Given the description of an element on the screen output the (x, y) to click on. 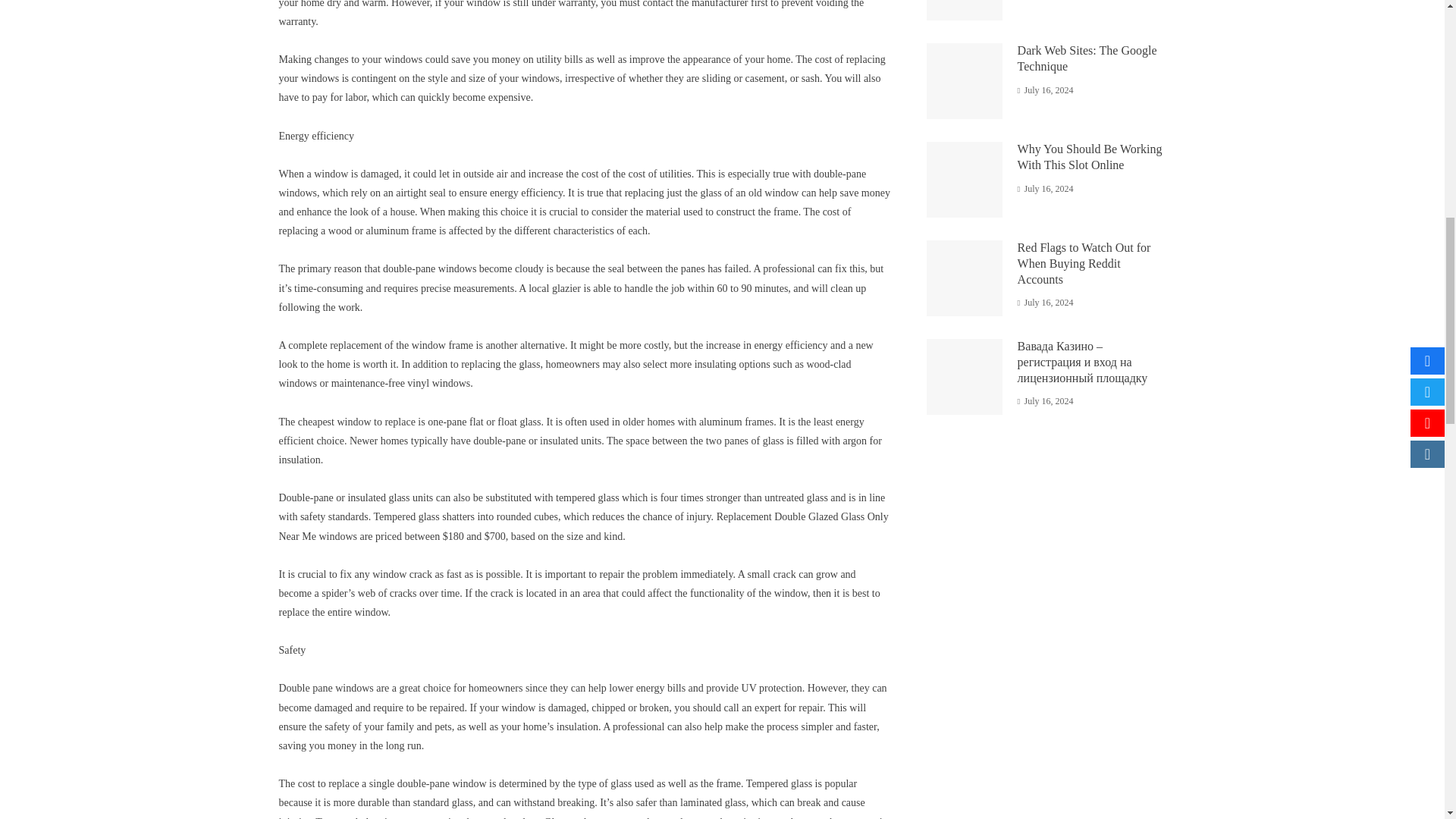
Replacement Double Glazed Glass Only Near Me (583, 526)
